Given the description of an element on the screen output the (x, y) to click on. 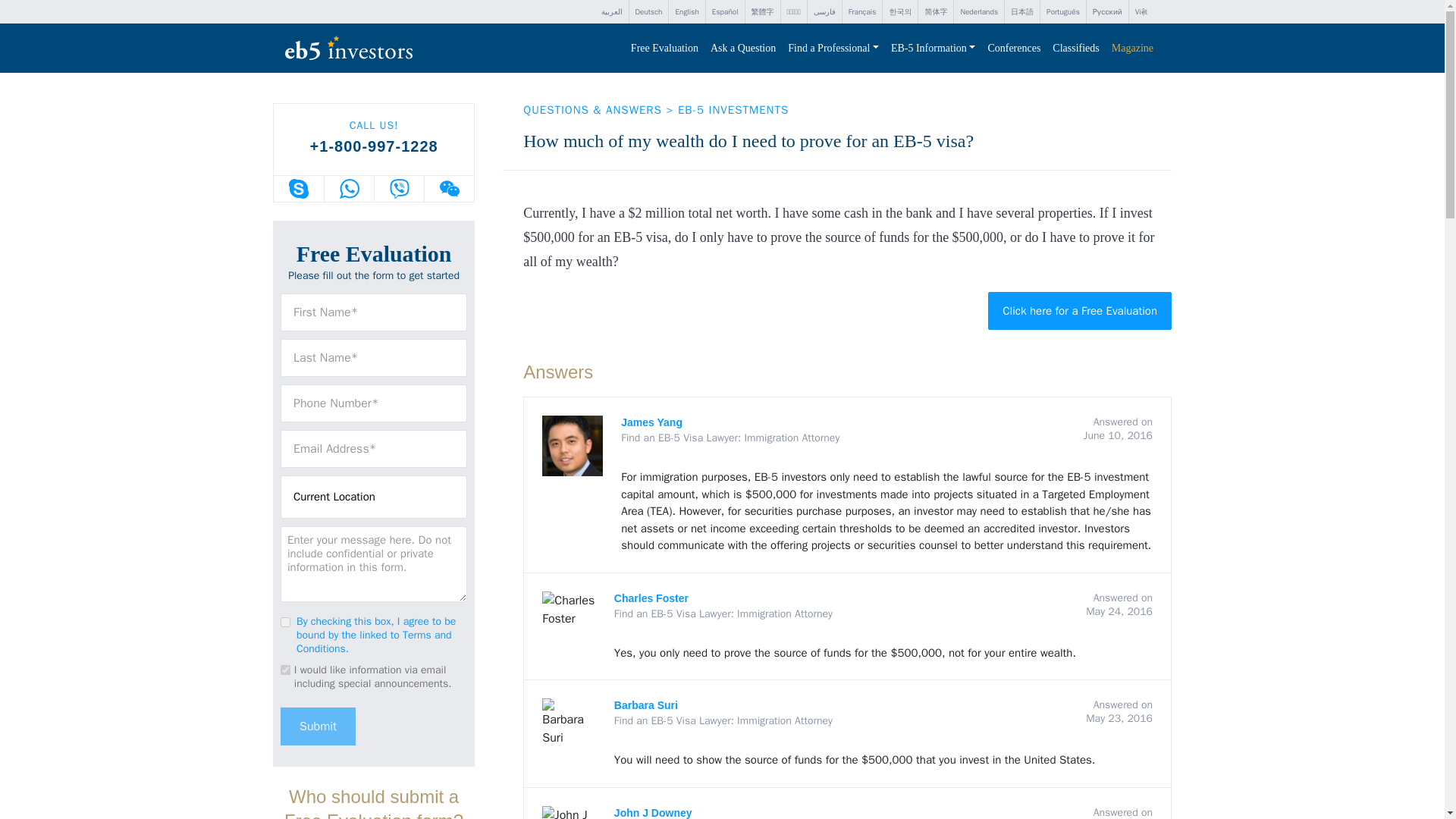
EB-5 Information (933, 48)
Ask a Question (742, 48)
Find a Professional (833, 48)
1 (285, 622)
Deutsch (648, 11)
Free Evaluation (664, 48)
Free Evaluation (664, 48)
Nederlands (978, 11)
Submit (318, 725)
